Given the description of an element on the screen output the (x, y) to click on. 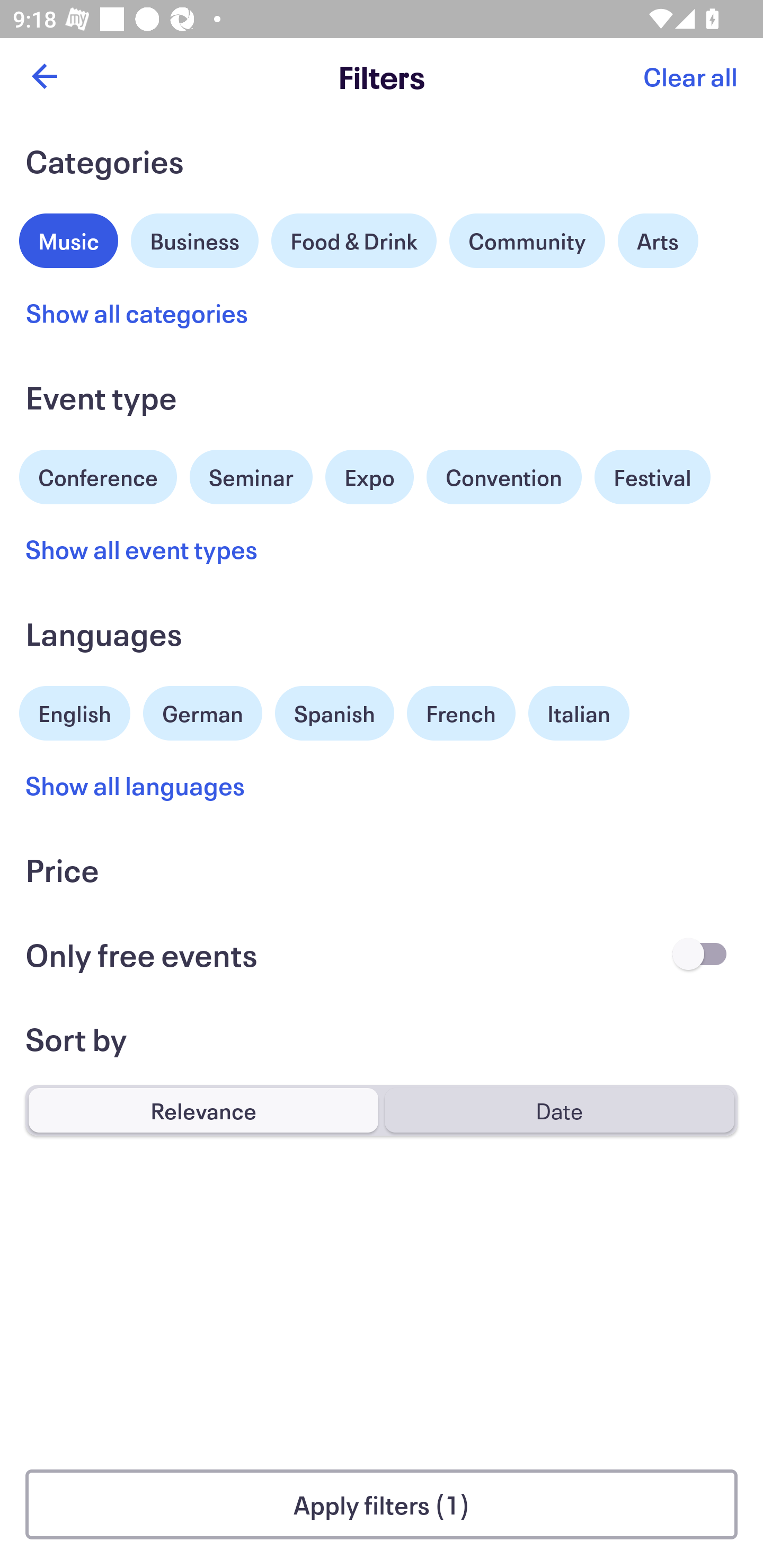
Back button (44, 75)
Clear all (690, 75)
Music (68, 238)
Business (194, 238)
Food & Drink (353, 240)
Community (527, 240)
Arts (658, 240)
Show all categories (136, 312)
Conference (98, 475)
Seminar (250, 477)
Expo (369, 477)
Convention (503, 477)
Festival (652, 477)
Show all event types (141, 548)
English (74, 710)
German (202, 710)
Spanish (334, 713)
French (460, 713)
Italian (578, 713)
Show all languages (135, 784)
Relevance (203, 1109)
Date (559, 1109)
Apply filters (1) (381, 1504)
